Given the description of an element on the screen output the (x, y) to click on. 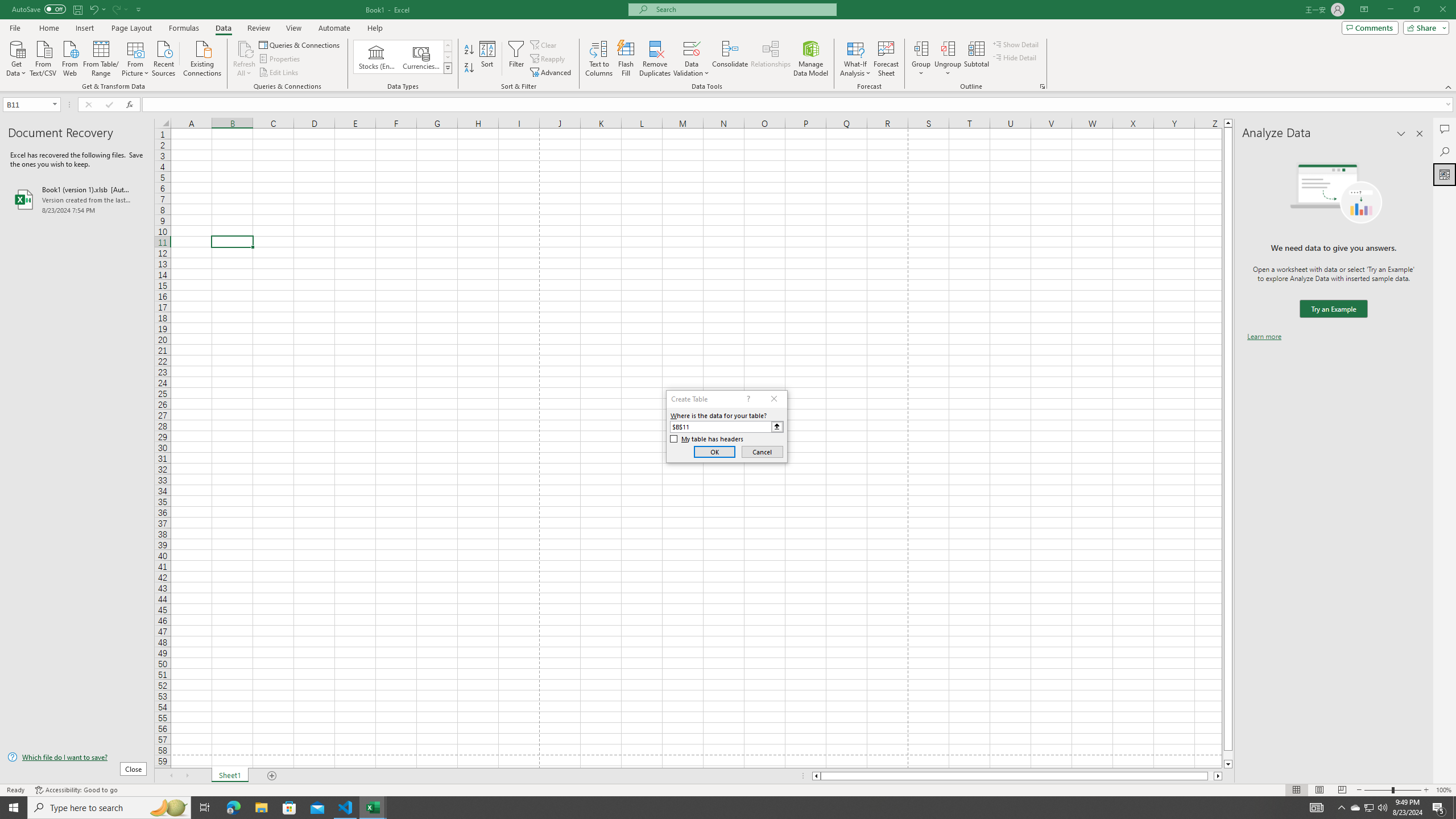
Flash Fill (625, 58)
Remove Duplicates (654, 58)
Which file do I want to save? (77, 757)
AutomationID: ConvertToLinkedEntity (403, 56)
Advanced... (551, 72)
Sort Z to A (469, 67)
